Given the description of an element on the screen output the (x, y) to click on. 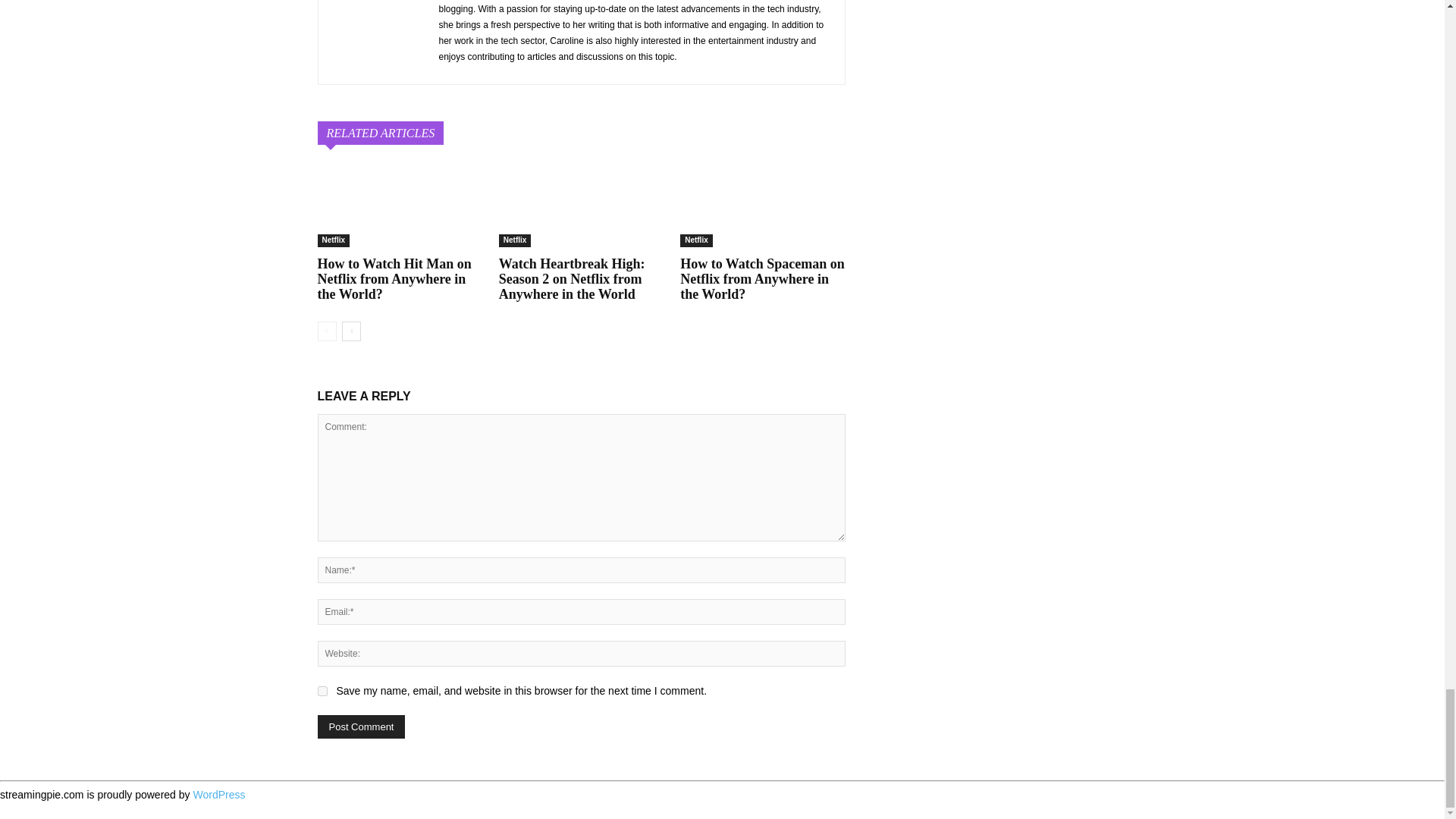
Post Comment (360, 726)
yes (321, 691)
